Given the description of an element on the screen output the (x, y) to click on. 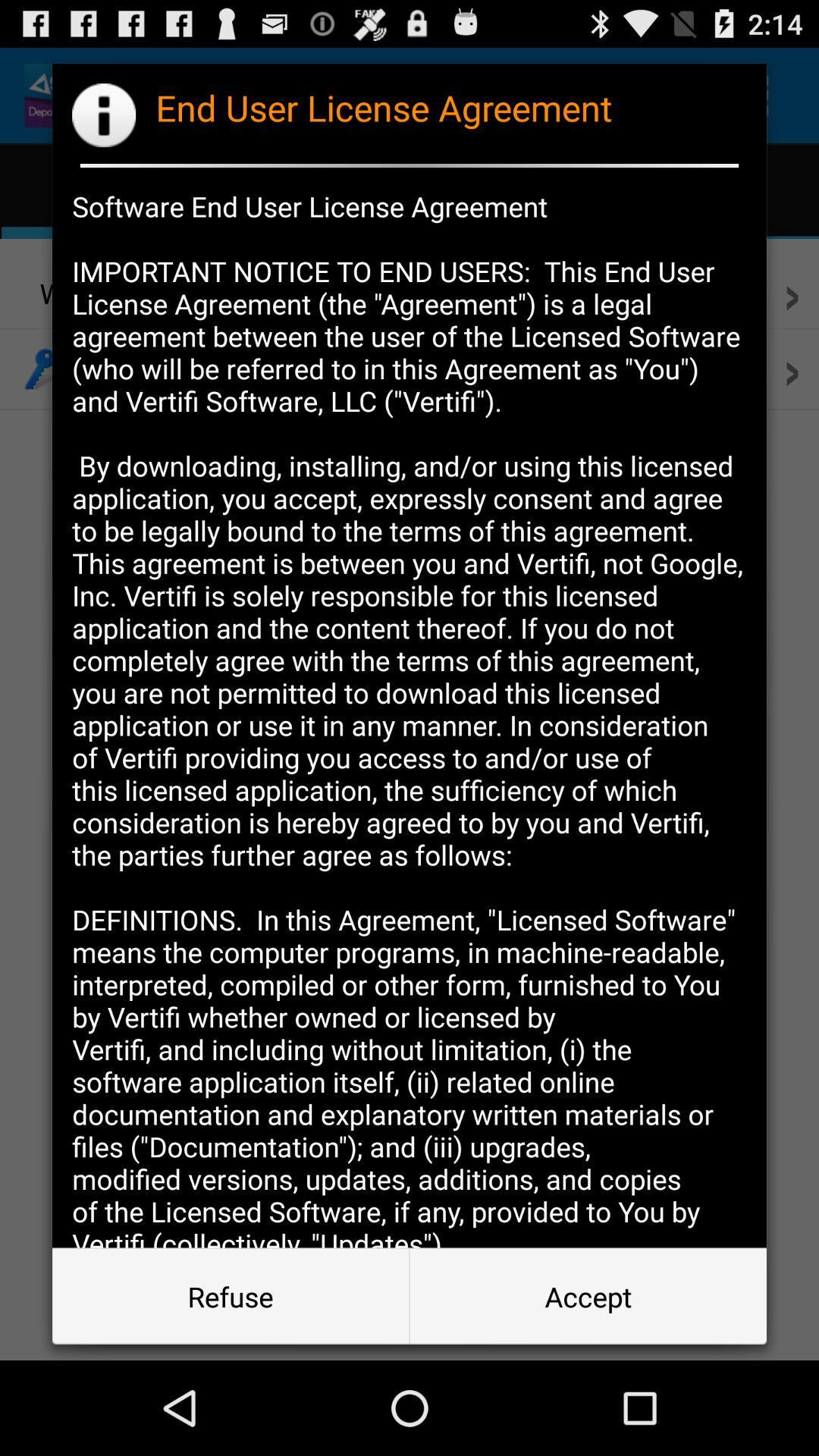
jump to the refuse (230, 1296)
